Given the description of an element on the screen output the (x, y) to click on. 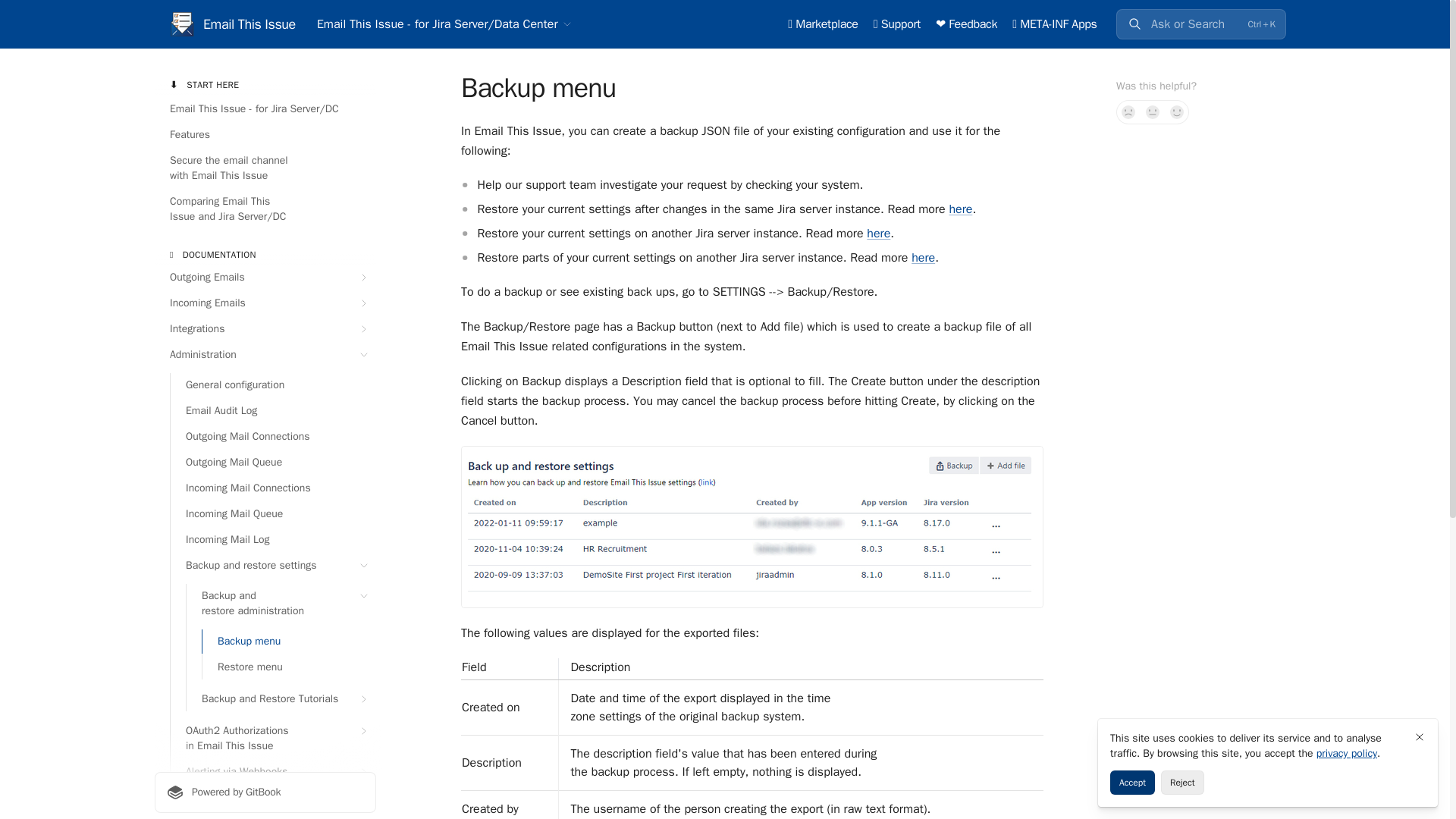
Close (1419, 737)
Outgoing Emails (264, 277)
Yes, it was! (1176, 111)
Email This Issue (232, 24)
Features (264, 134)
Secure the email channel with Email This Issue (264, 168)
No (1128, 111)
Not sure (1152, 111)
